Given the description of an element on the screen output the (x, y) to click on. 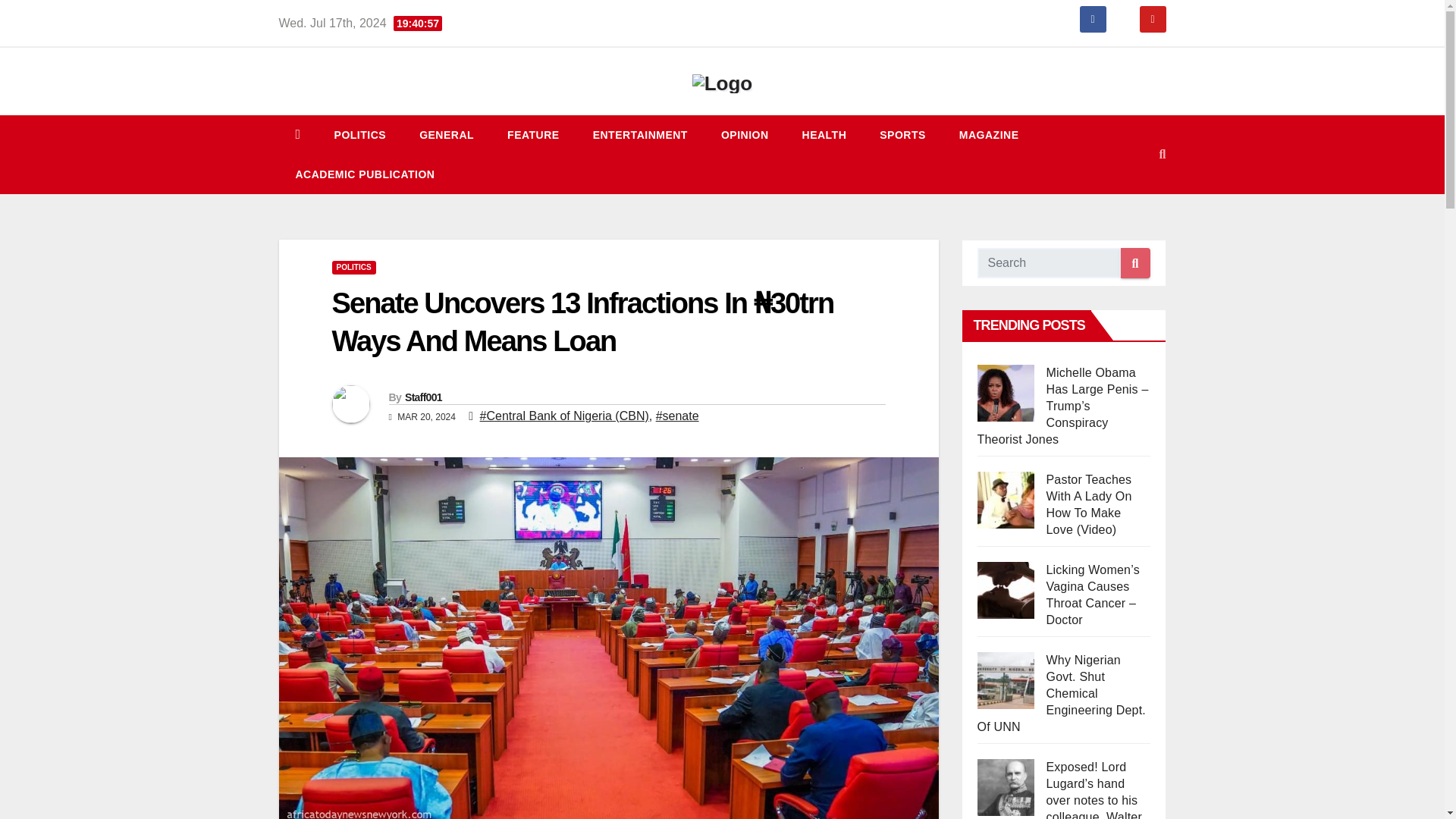
POLITICS (360, 134)
SPORTS (902, 134)
Politics (360, 134)
Magazine (988, 134)
HEALTH (824, 134)
Entertainment (640, 134)
OPINION (745, 134)
Staff001 (423, 397)
FEATURE (533, 134)
Sports (902, 134)
Health (824, 134)
Academic Publication (365, 174)
Opinion (745, 134)
ENTERTAINMENT (640, 134)
GENERAL (446, 134)
